Given the description of an element on the screen output the (x, y) to click on. 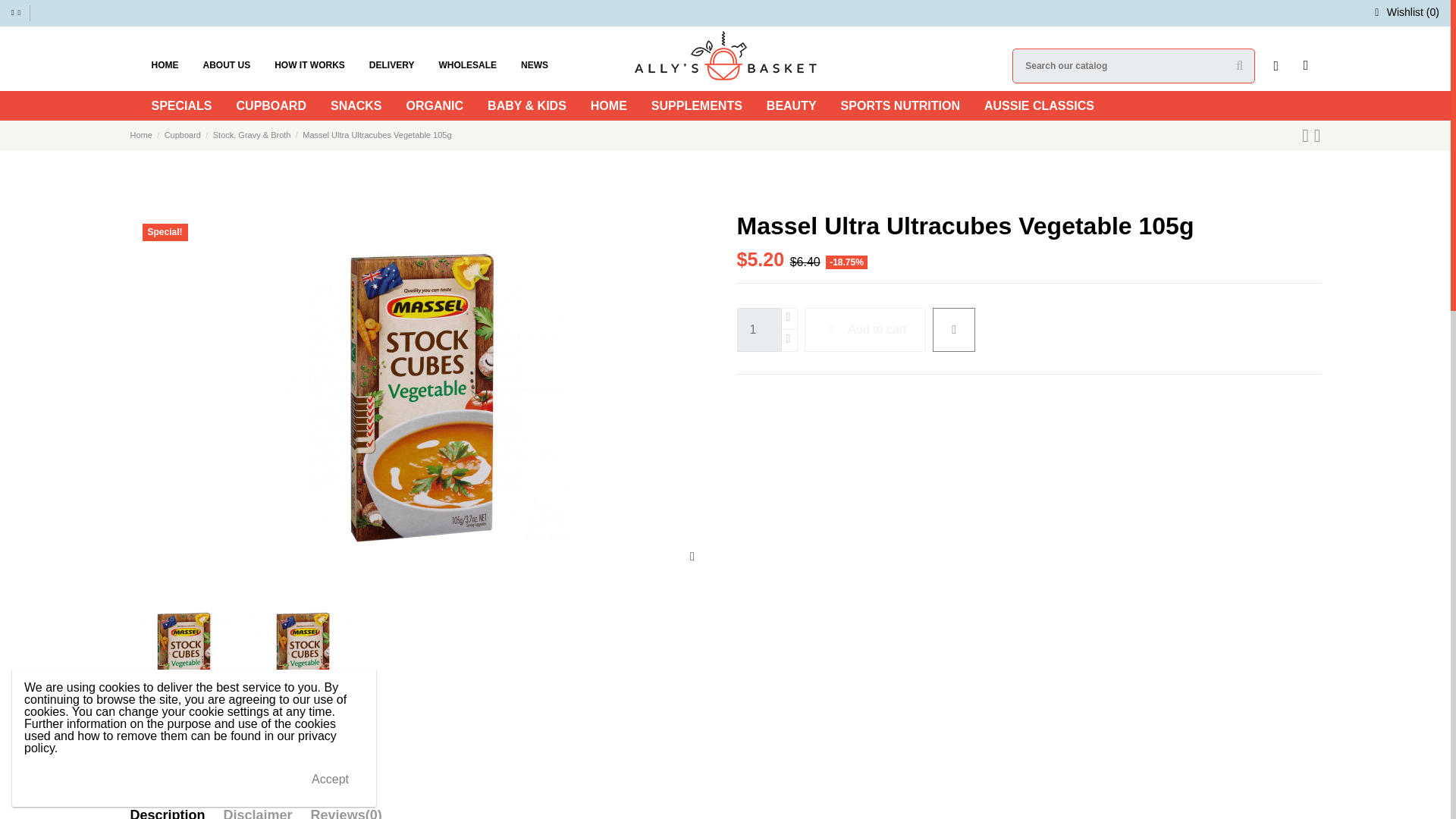
ABOUT US (226, 65)
WHOLESALE (467, 65)
HOW IT WORKS (309, 65)
DELIVERY (391, 65)
NEWS (534, 65)
HOME (164, 65)
1 (758, 329)
